Given the description of an element on the screen output the (x, y) to click on. 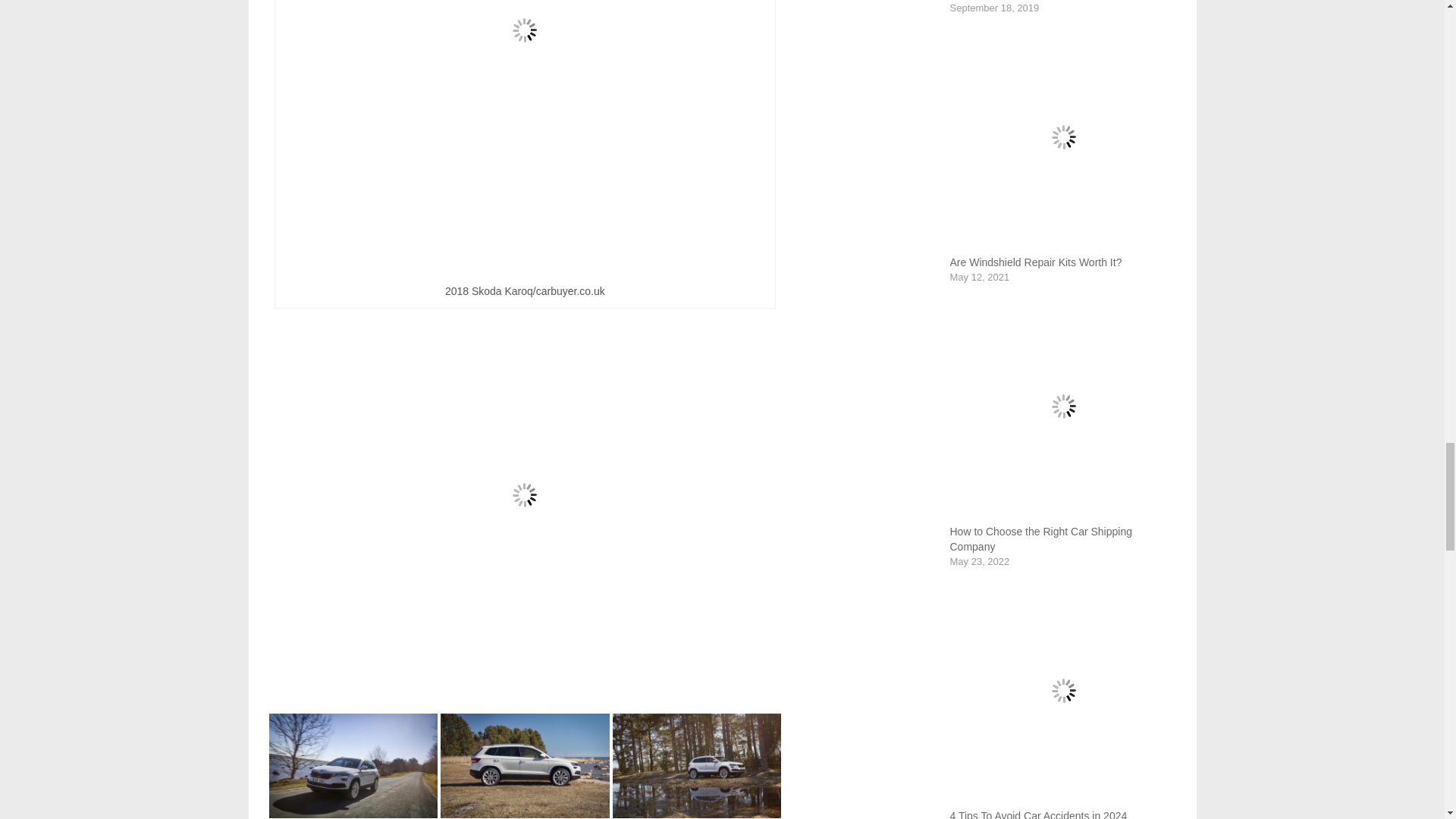
2018 Skoda Karoq 1 (352, 765)
2018 Skoda Karoq 2 (525, 765)
